Given the description of an element on the screen output the (x, y) to click on. 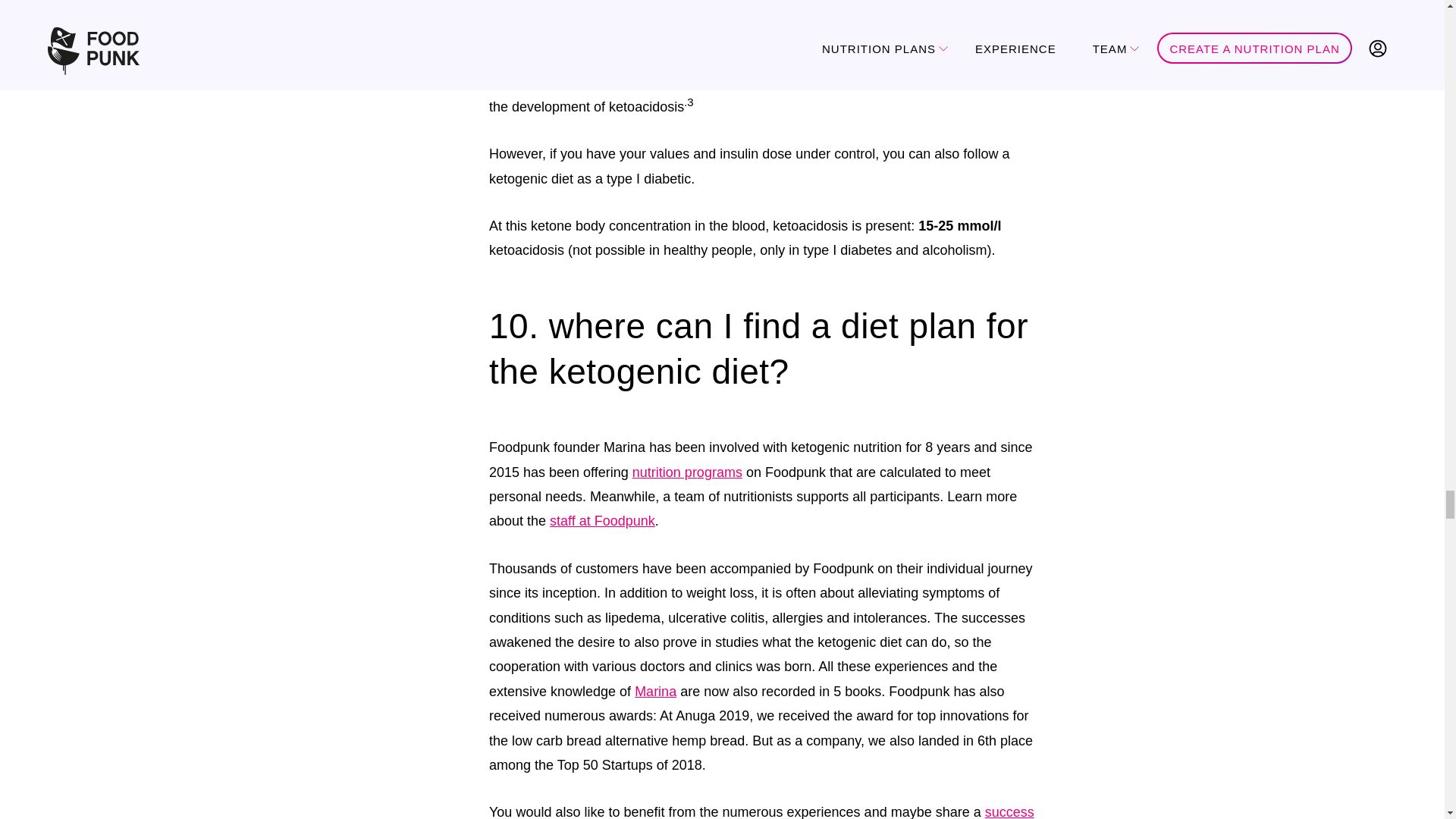
Marina (655, 691)
nutrition programs (686, 472)
success story (761, 811)
staff at Foodpunk (602, 520)
